Given the description of an element on the screen output the (x, y) to click on. 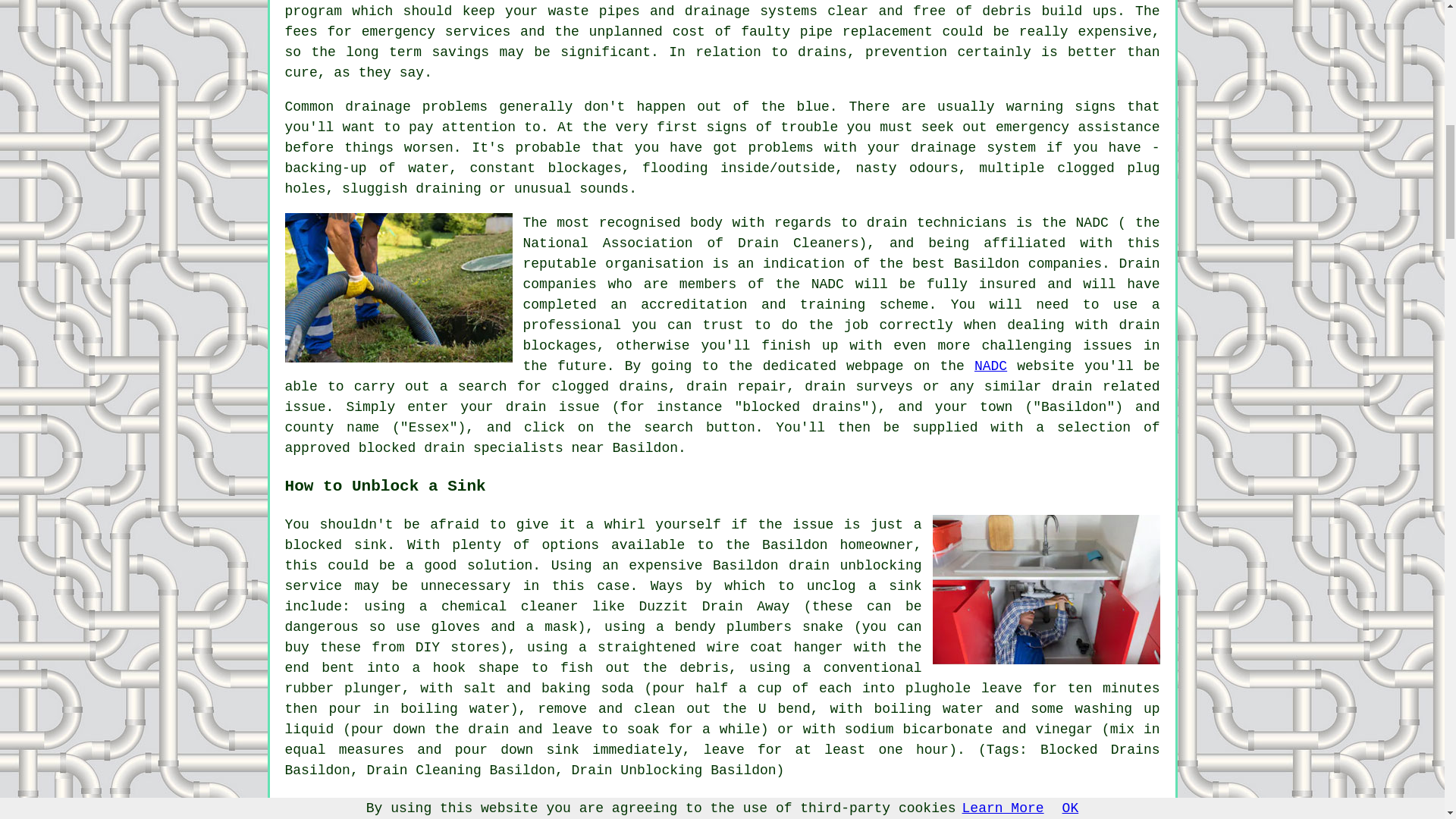
Drain Jetting Basildon (1046, 589)
